Given the description of an element on the screen output the (x, y) to click on. 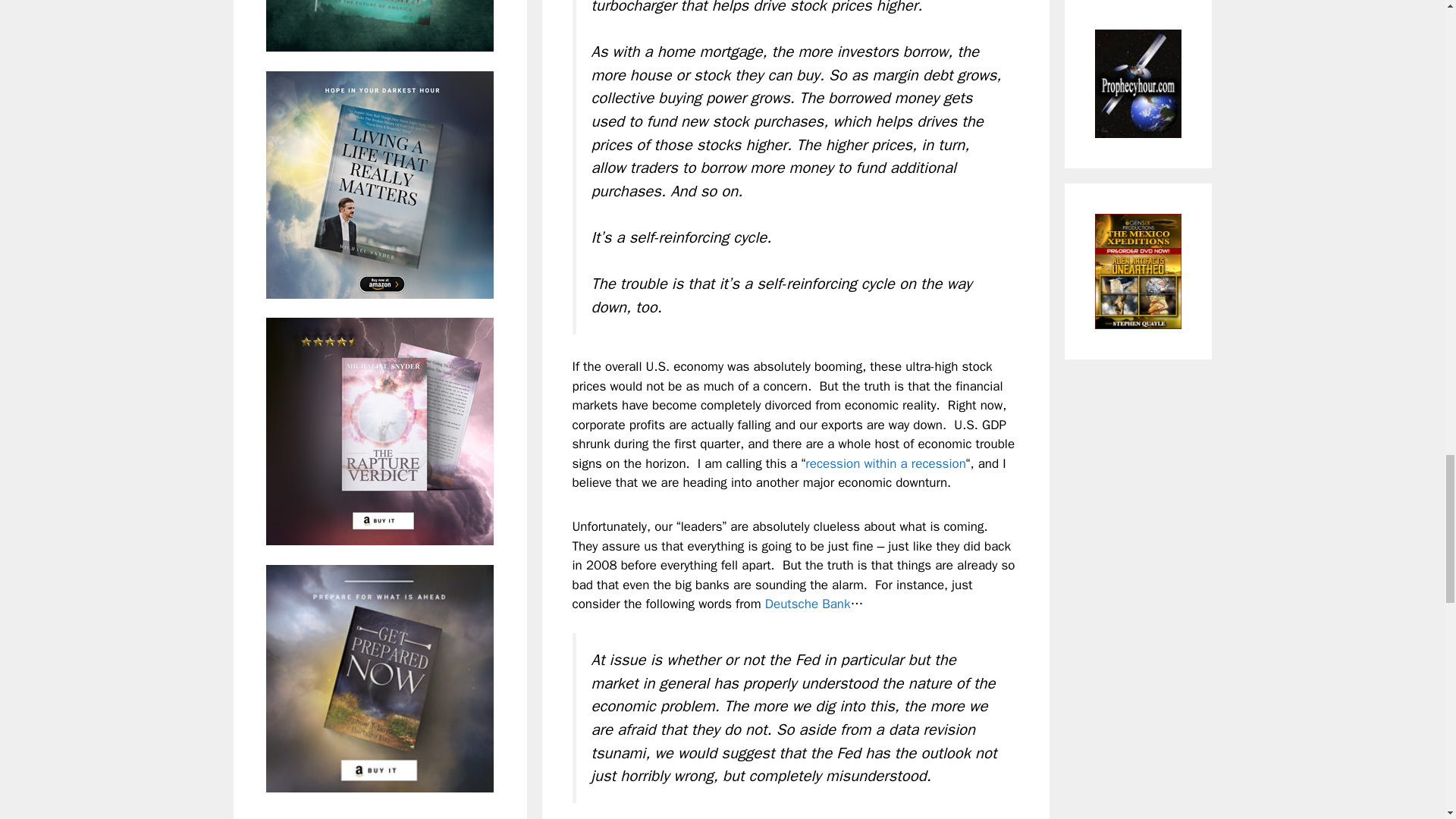
recession within a recession (885, 463)
Deutsche Bank (807, 603)
recession within a recession (885, 463)
Deutsche Bank (807, 603)
